Given the description of an element on the screen output the (x, y) to click on. 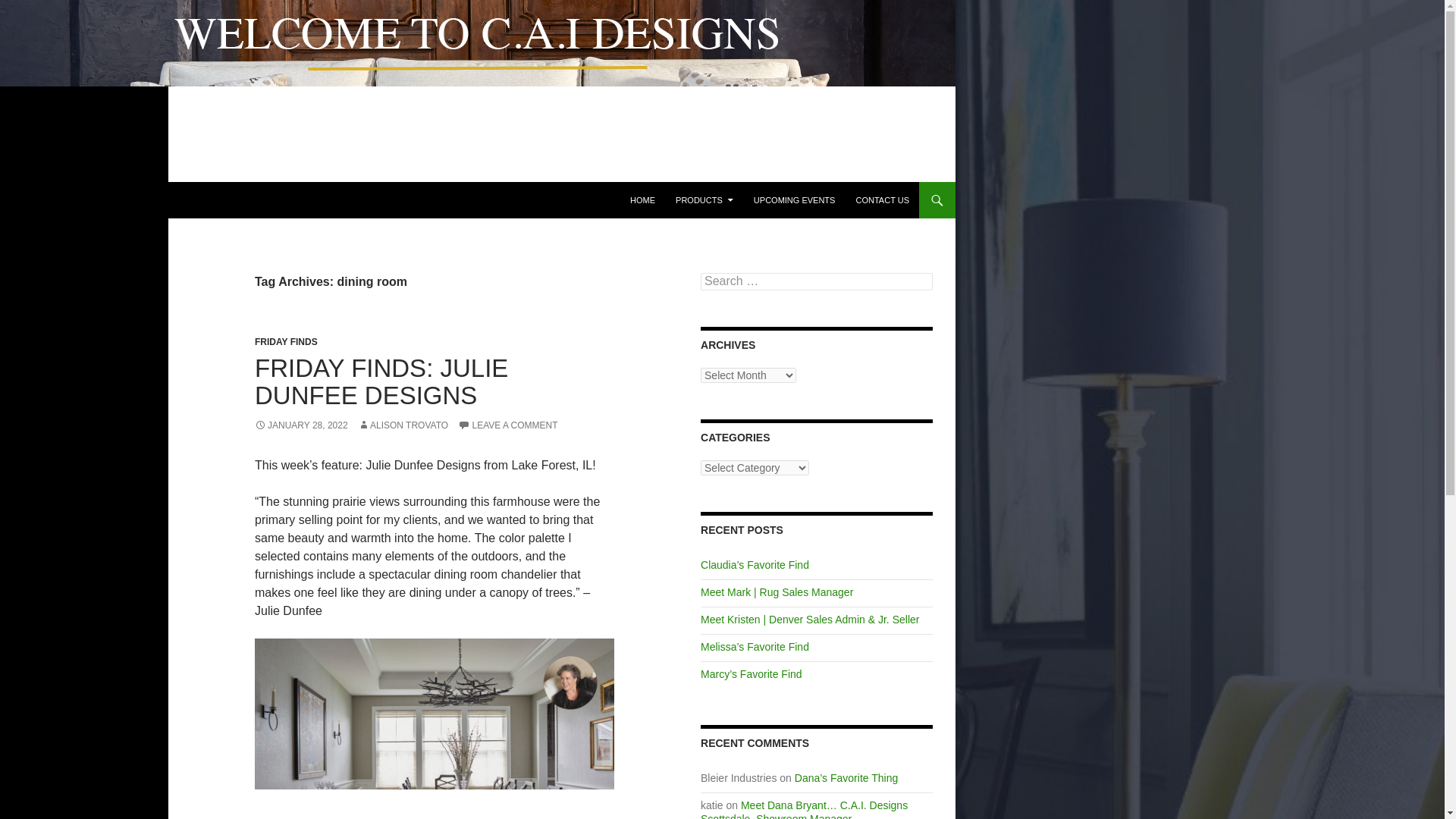
JANUARY 28, 2022 (300, 425)
CONTACT US (881, 199)
ALISON TROVATO (403, 425)
UPCOMING EVENTS (794, 199)
LEAVE A COMMENT (507, 425)
FRIDAY FINDS: JULIE DUNFEE DESIGNS (381, 381)
CAI Designs Blog (79, 199)
HOME (642, 199)
